Given the description of an element on the screen output the (x, y) to click on. 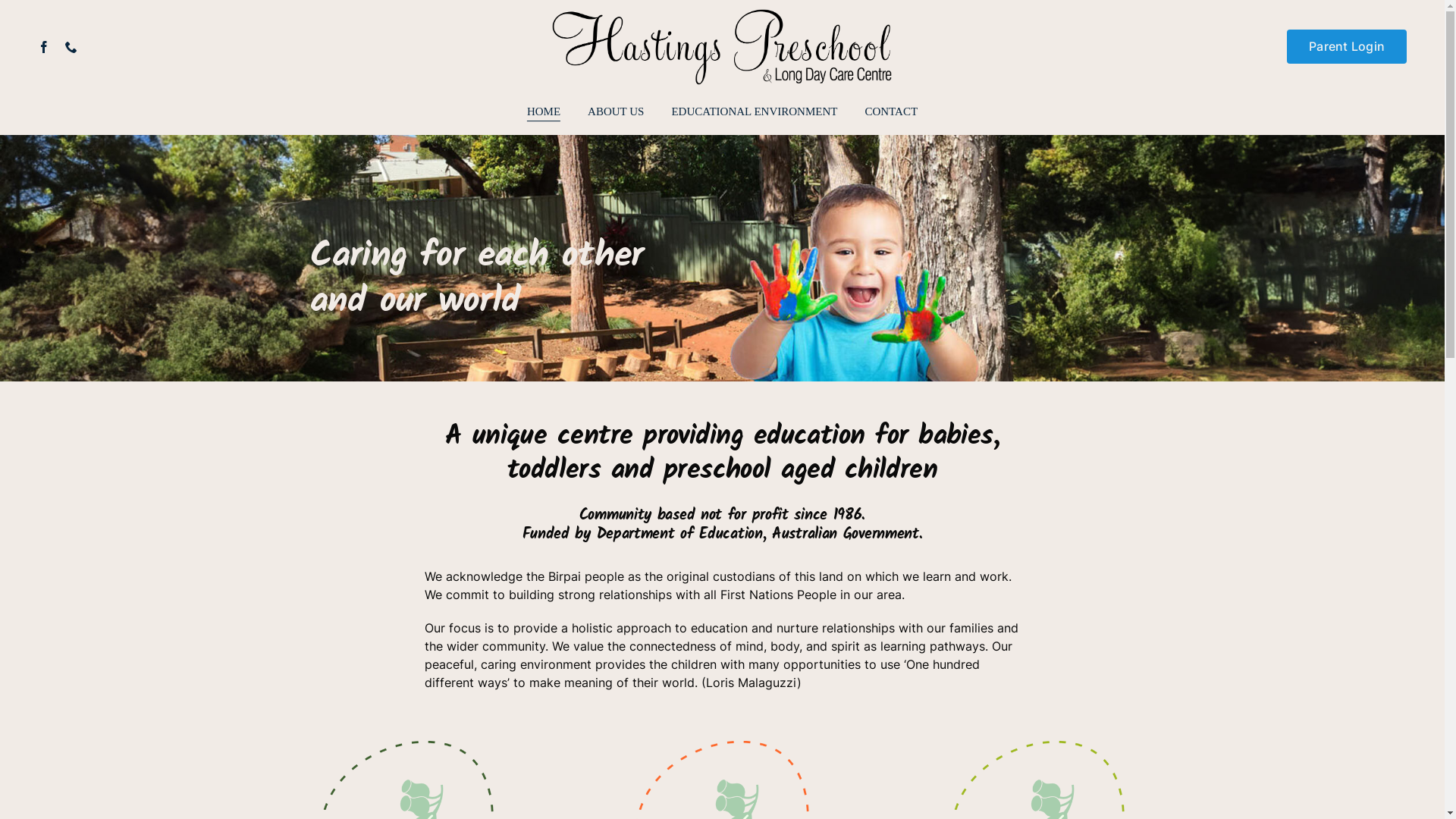
ABOUT US Element type: text (615, 112)
Parent Login Element type: text (1346, 46)
CONTACT Element type: text (890, 112)
EDUCATIONAL ENVIRONMENT Element type: text (754, 112)
HOME Element type: text (543, 112)
